Given the description of an element on the screen output the (x, y) to click on. 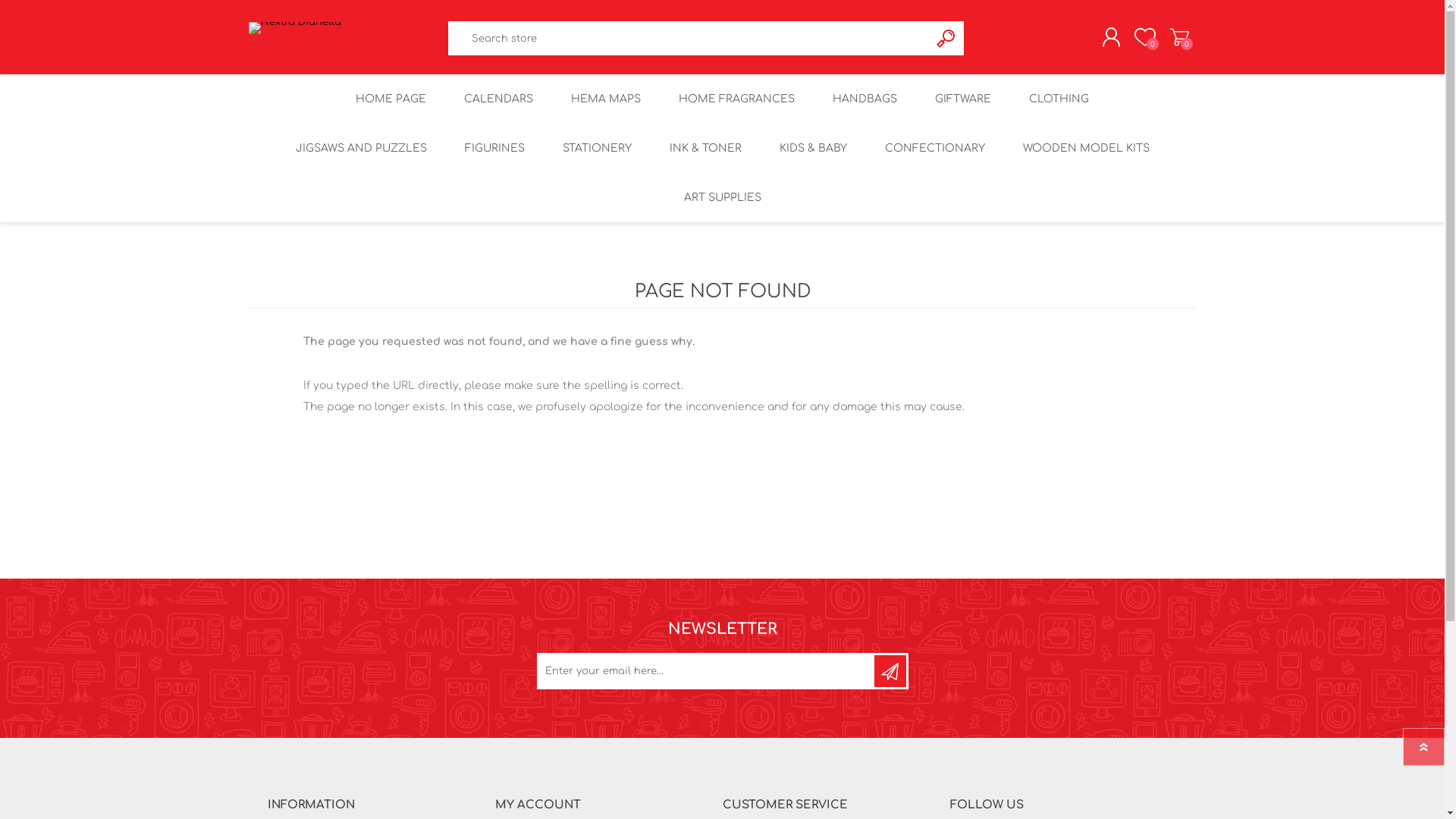
STATIONERY Element type: text (595, 147)
CONFECTIONARY Element type: text (935, 147)
Subscribe Element type: text (889, 671)
CALENDARS Element type: text (498, 98)
Shopping cart Element type: text (1178, 36)
INK & TONER Element type: text (705, 147)
HANDBAGS Element type: text (864, 98)
JIGSAWS AND PUZZLES Element type: text (360, 147)
GIFTWARE Element type: text (963, 98)
Wishlist
0 Element type: text (1145, 36)
KIDS & BABY Element type: text (812, 147)
HOME FRAGRANCES Element type: text (736, 98)
FIGURINES Element type: text (494, 147)
CLOTHING Element type: text (1058, 98)
Search Element type: text (946, 38)
ART SUPPLIES Element type: text (721, 197)
HEMA MAPS Element type: text (605, 98)
WOODEN MODEL KITS Element type: text (1086, 147)
HOME PAGE Element type: text (390, 98)
